Given the description of an element on the screen output the (x, y) to click on. 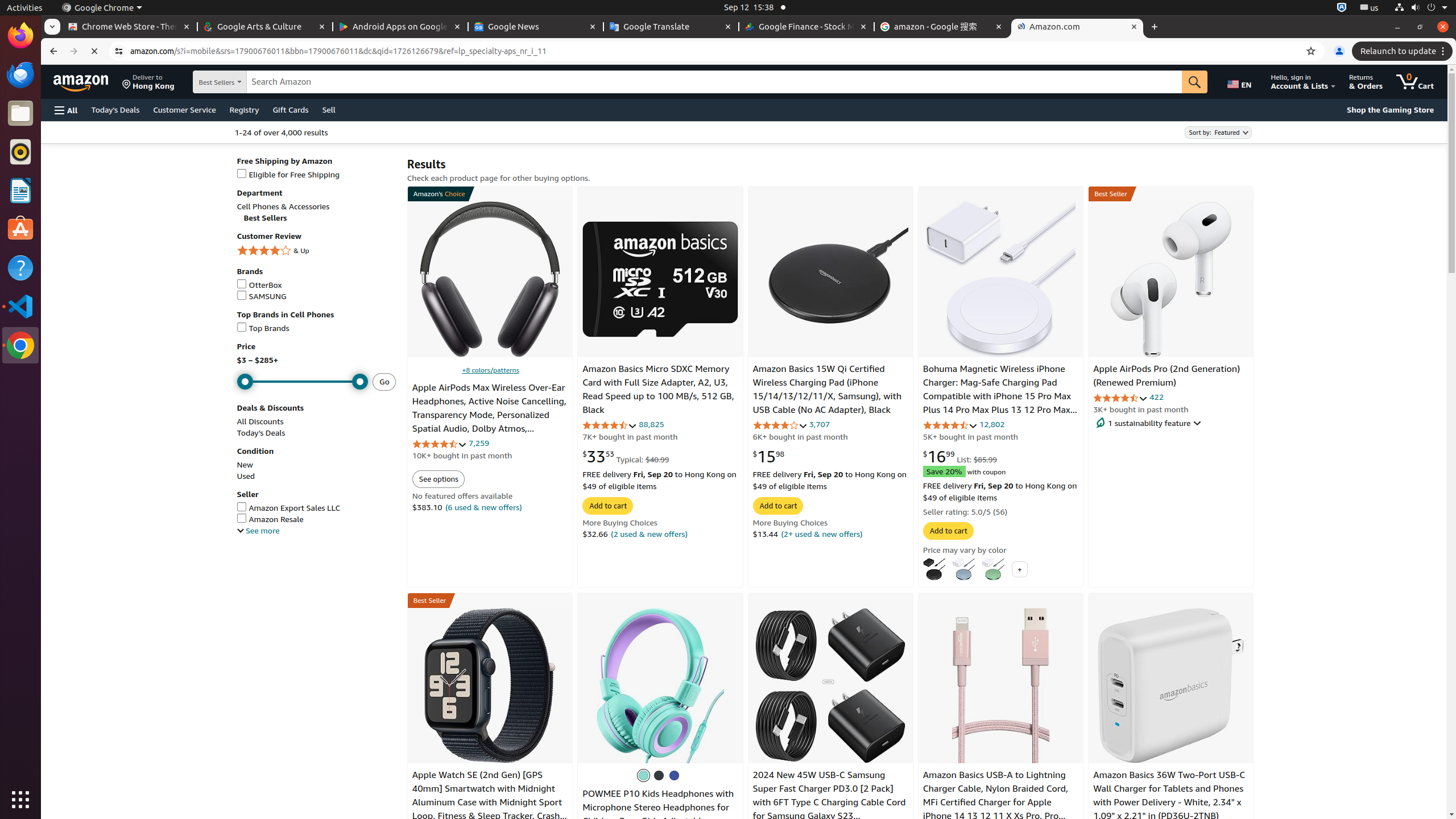
Relaunch to update Element type: push-button (1403, 50)
Firefox Web Browser Element type: push-button (20, 35)
Android Apps on Google Play - Memory usage - 60.6 MB Element type: page-tab (400, 26)
Customer Service Element type: link (184, 109)
View site information Element type: push-button (118, 51)
